Given the description of an element on the screen output the (x, y) to click on. 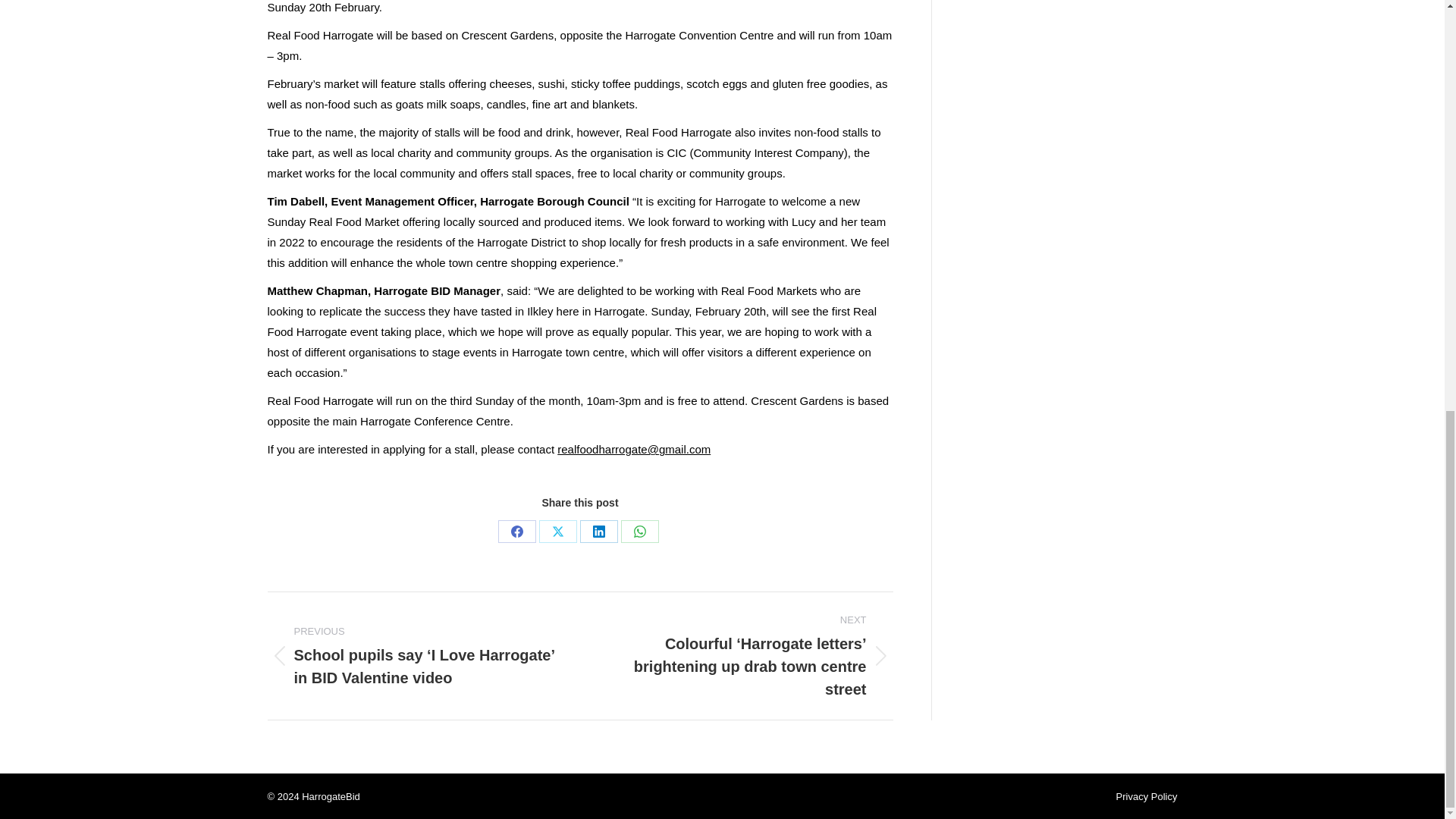
Facebook (516, 531)
WhatsApp (640, 531)
LinkedIn (598, 531)
X (557, 531)
